Given the description of an element on the screen output the (x, y) to click on. 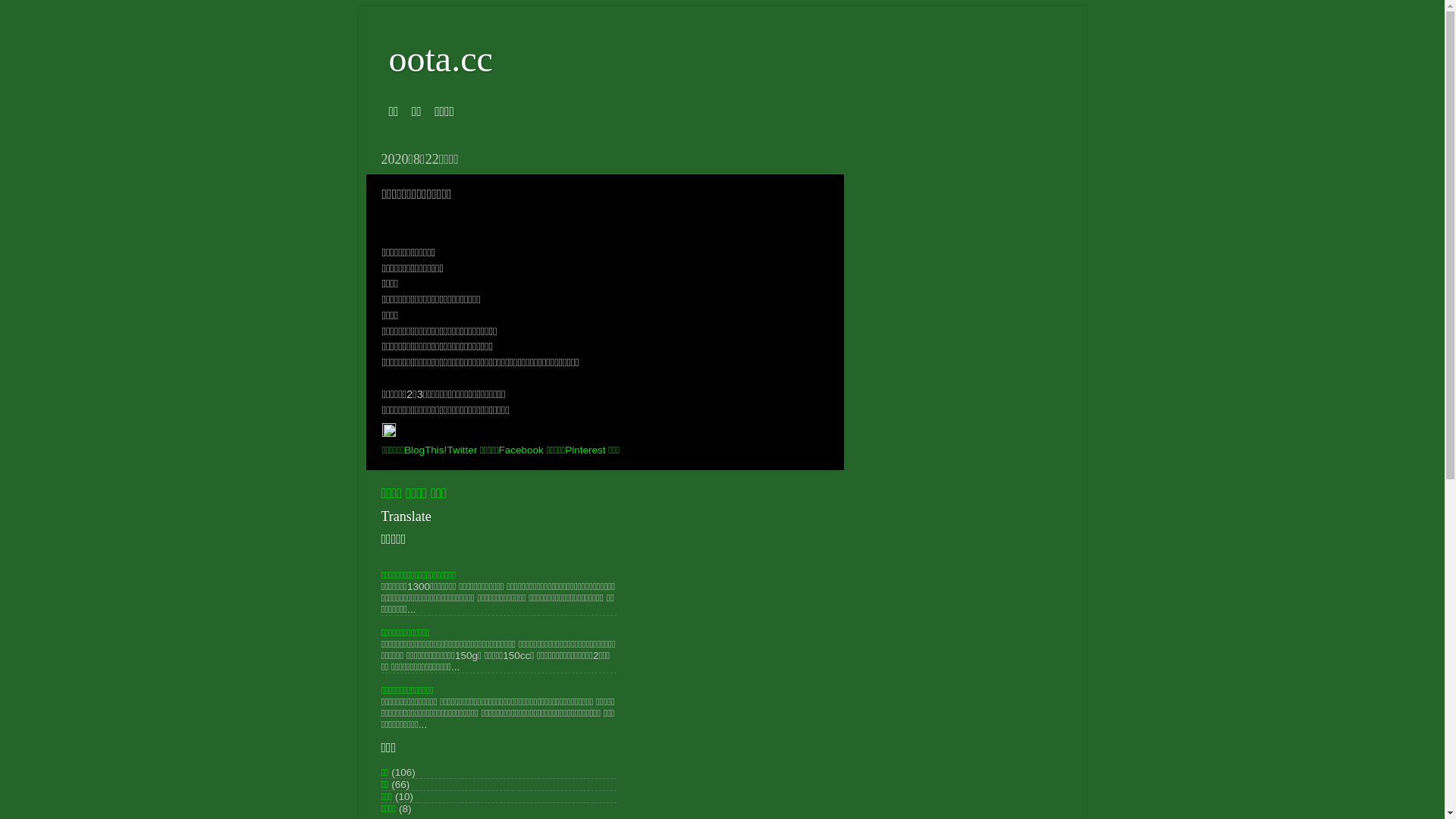
BlogThis! Element type: text (425, 449)
oota.cc Element type: text (440, 58)
